Given the description of an element on the screen output the (x, y) to click on. 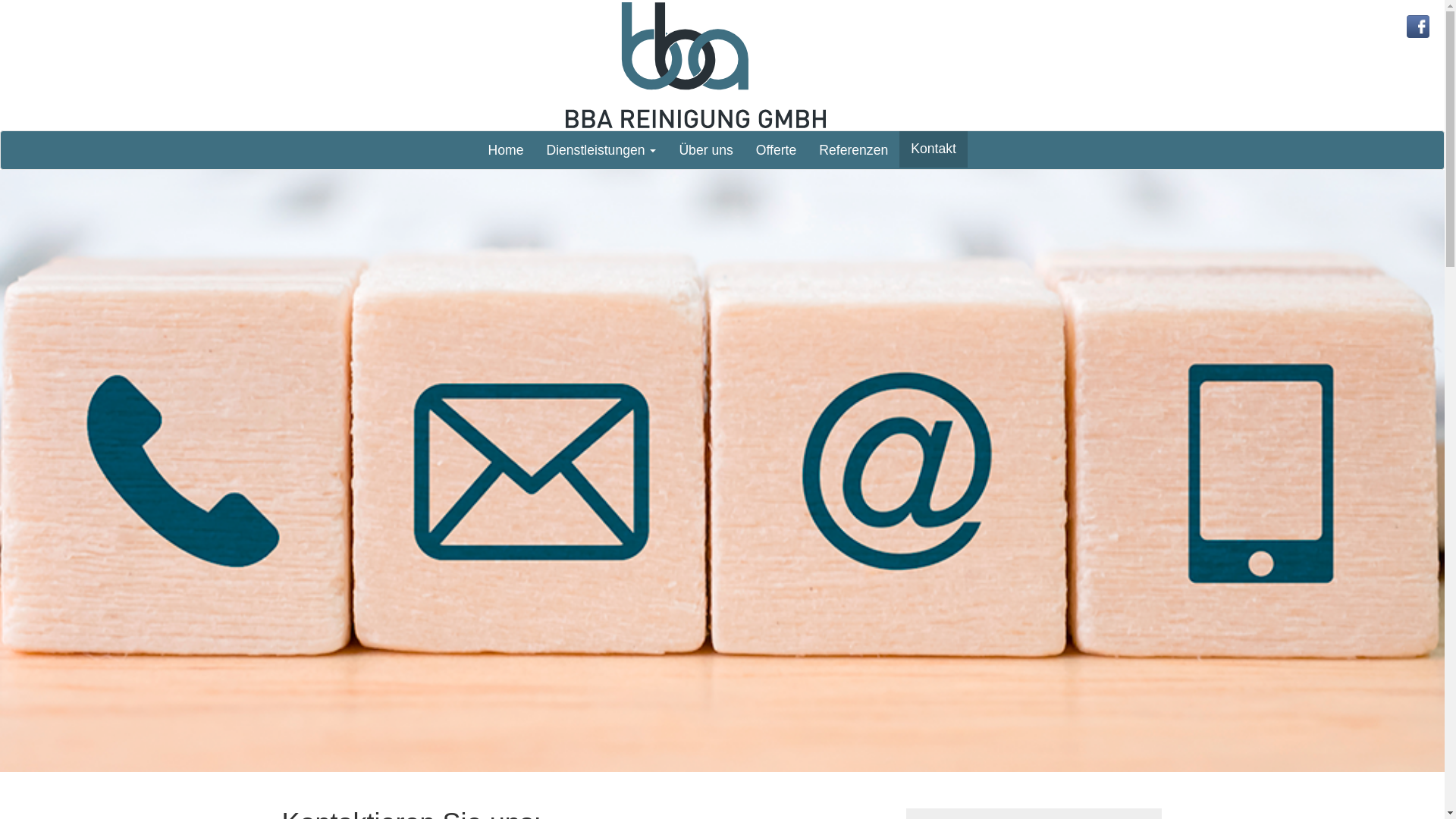
Home Element type: text (505, 150)
Kontakt Element type: text (933, 149)
Offerte Element type: text (775, 150)
Dienstleistungen Element type: text (600, 150)
Referenzen Element type: text (853, 150)
